Given the description of an element on the screen output the (x, y) to click on. 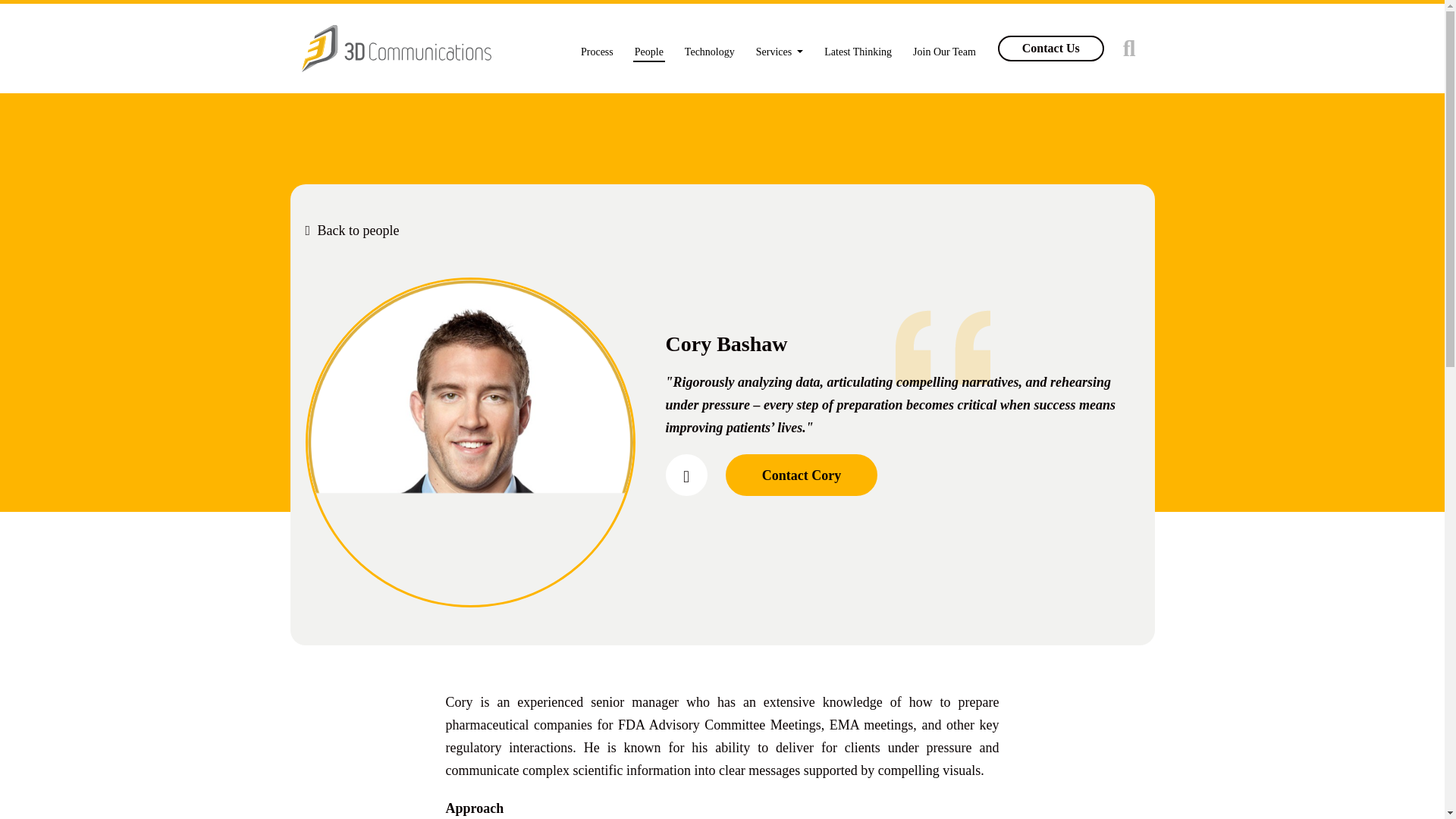
Back to people (351, 230)
Process (596, 48)
Process (596, 48)
Latest Thinking (857, 48)
Contact Cory (801, 475)
Latest Thinking (857, 48)
Services (779, 48)
Join Our Team (943, 48)
Join Our Team (943, 48)
Technology (709, 48)
